Given the description of an element on the screen output the (x, y) to click on. 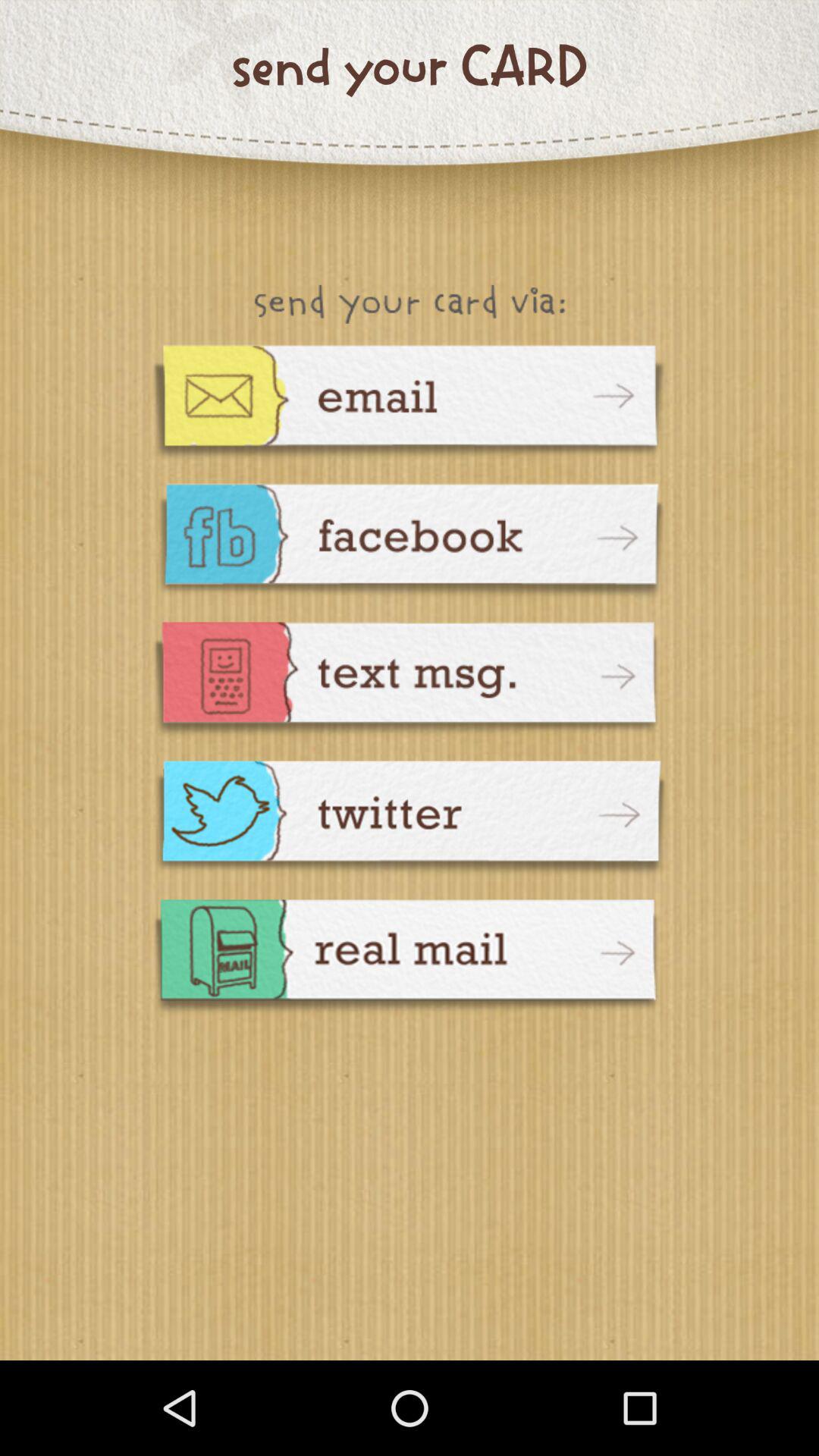
facebook icon (409, 542)
